Given the description of an element on the screen output the (x, y) to click on. 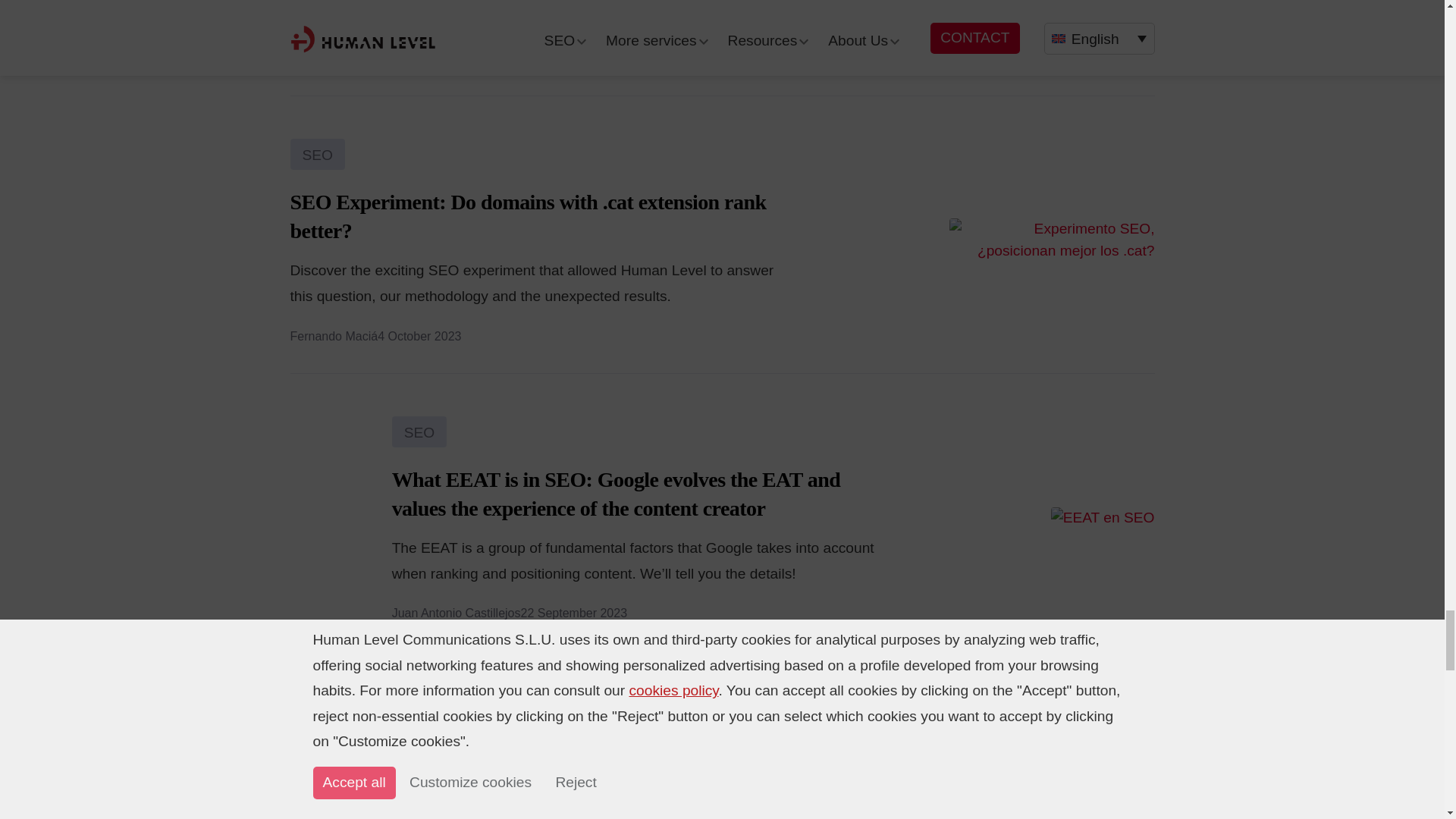
SEO Experiment: Do domains with .cat extension rank better? (1051, 238)
What is Google Discover? (1094, 779)
